Given the description of an element on the screen output the (x, y) to click on. 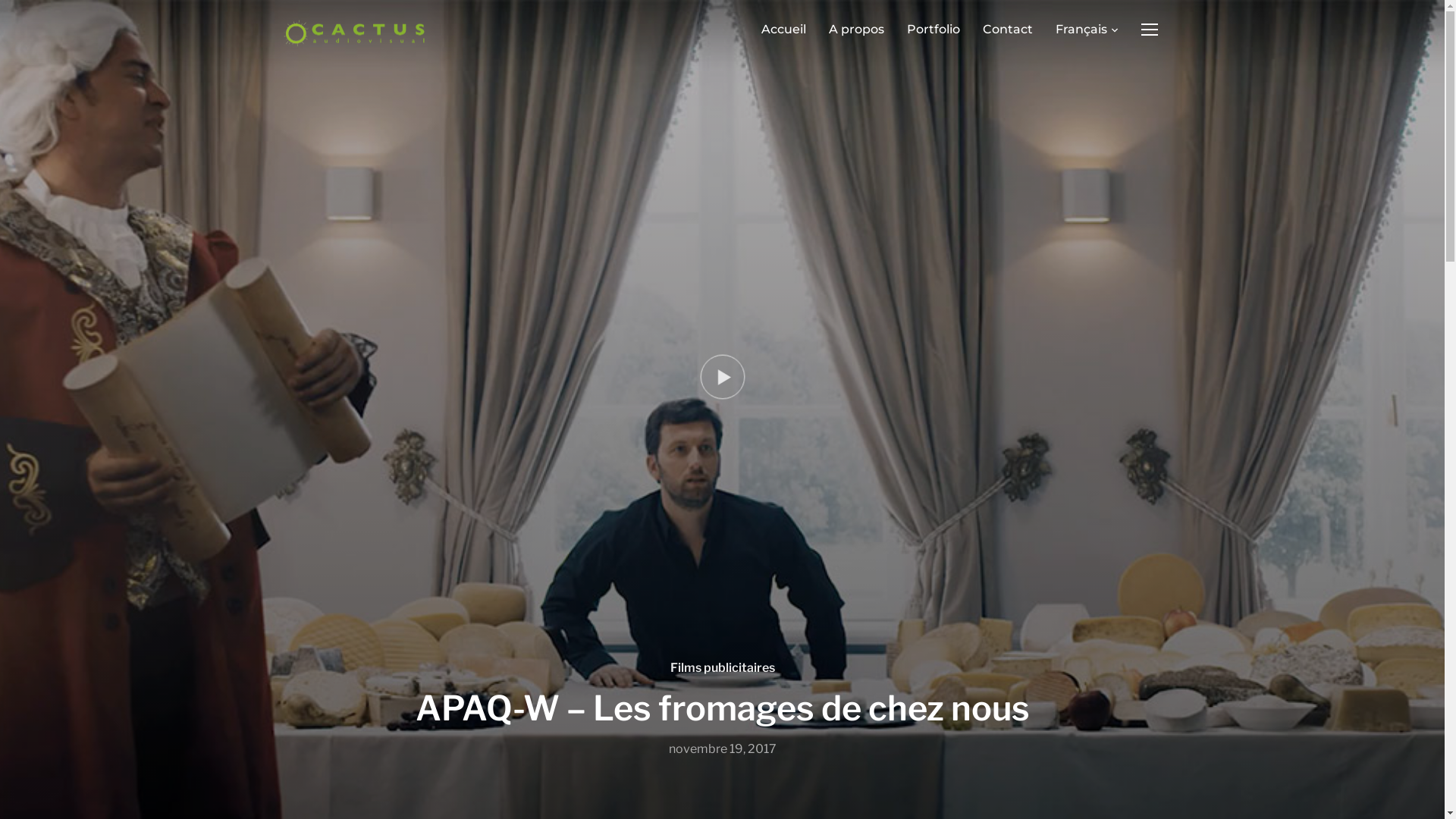
Contact Element type: text (1007, 29)
Accueil Element type: text (783, 29)
A propos Element type: text (855, 29)
TOGGLE SIDEBAR & NAVIGATION Element type: text (1149, 29)
Portfolio Element type: text (933, 29)
Films publicitaires Element type: text (722, 667)
